Given the description of an element on the screen output the (x, y) to click on. 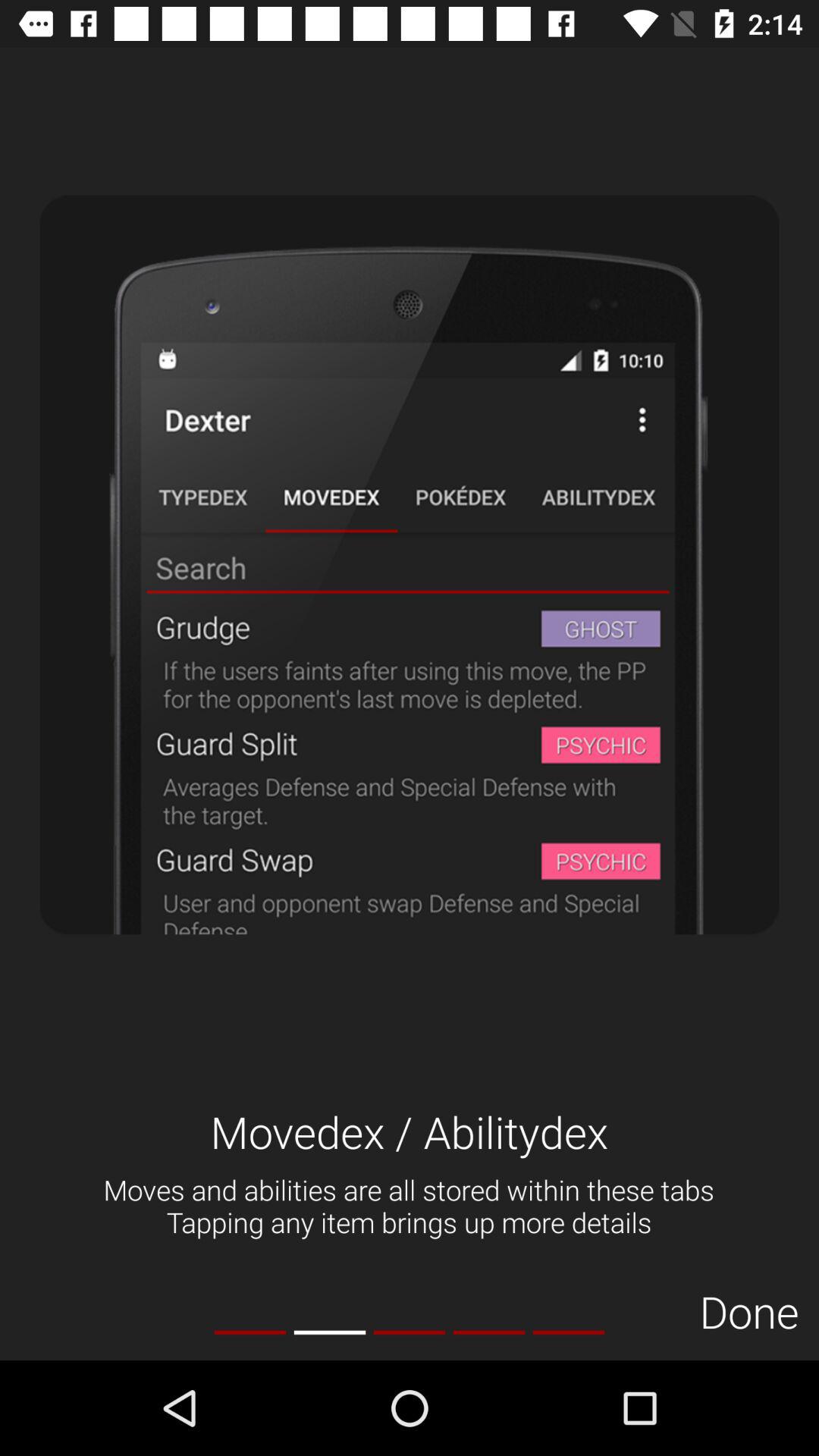
turn on the icon next to done icon (568, 1332)
